Given the description of an element on the screen output the (x, y) to click on. 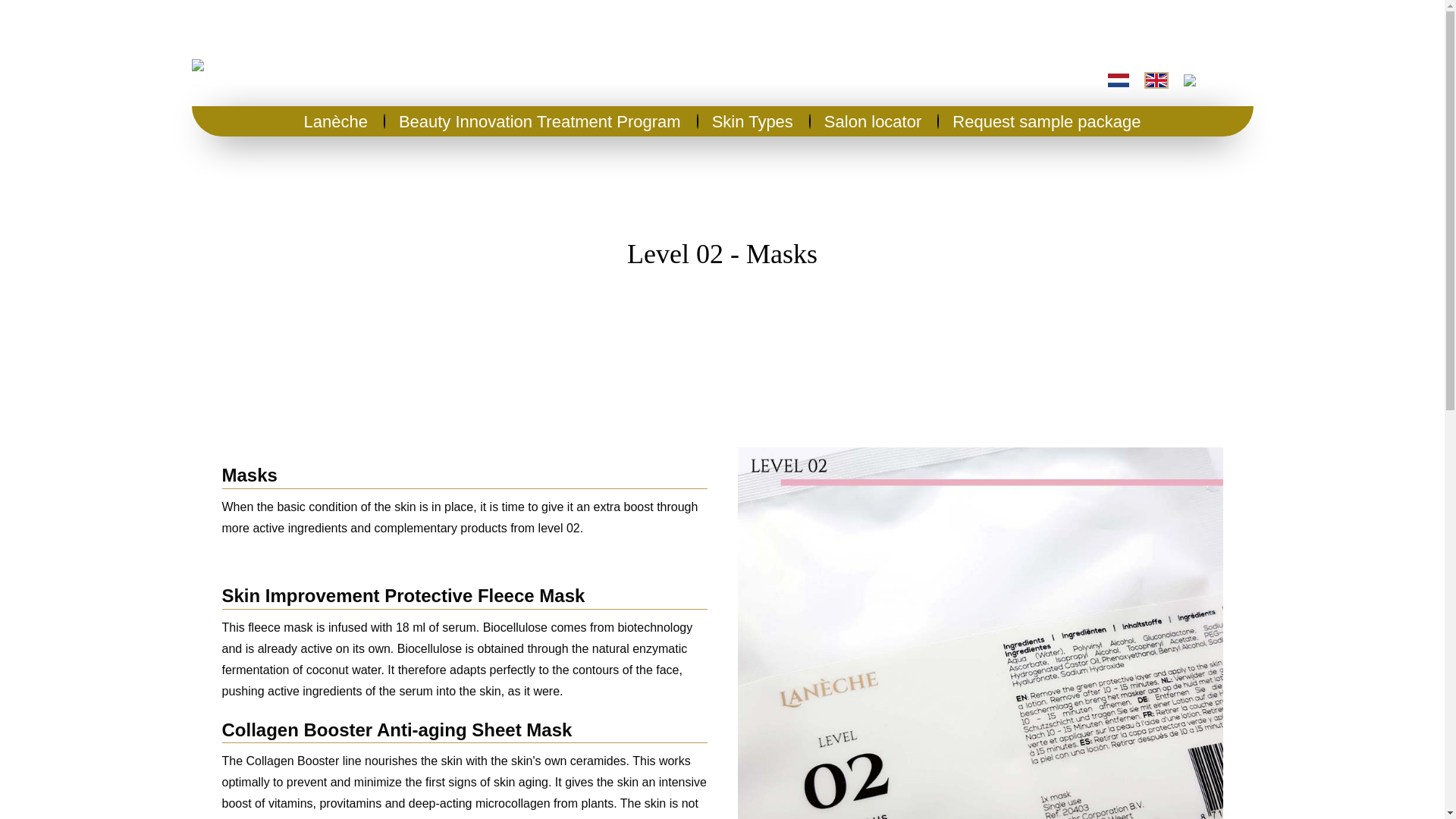
Beauty Innovation Treatment Program (539, 122)
Request sample package (1046, 122)
Skin Types (752, 122)
Salon locator (872, 122)
logo (207, 64)
